Given the description of an element on the screen output the (x, y) to click on. 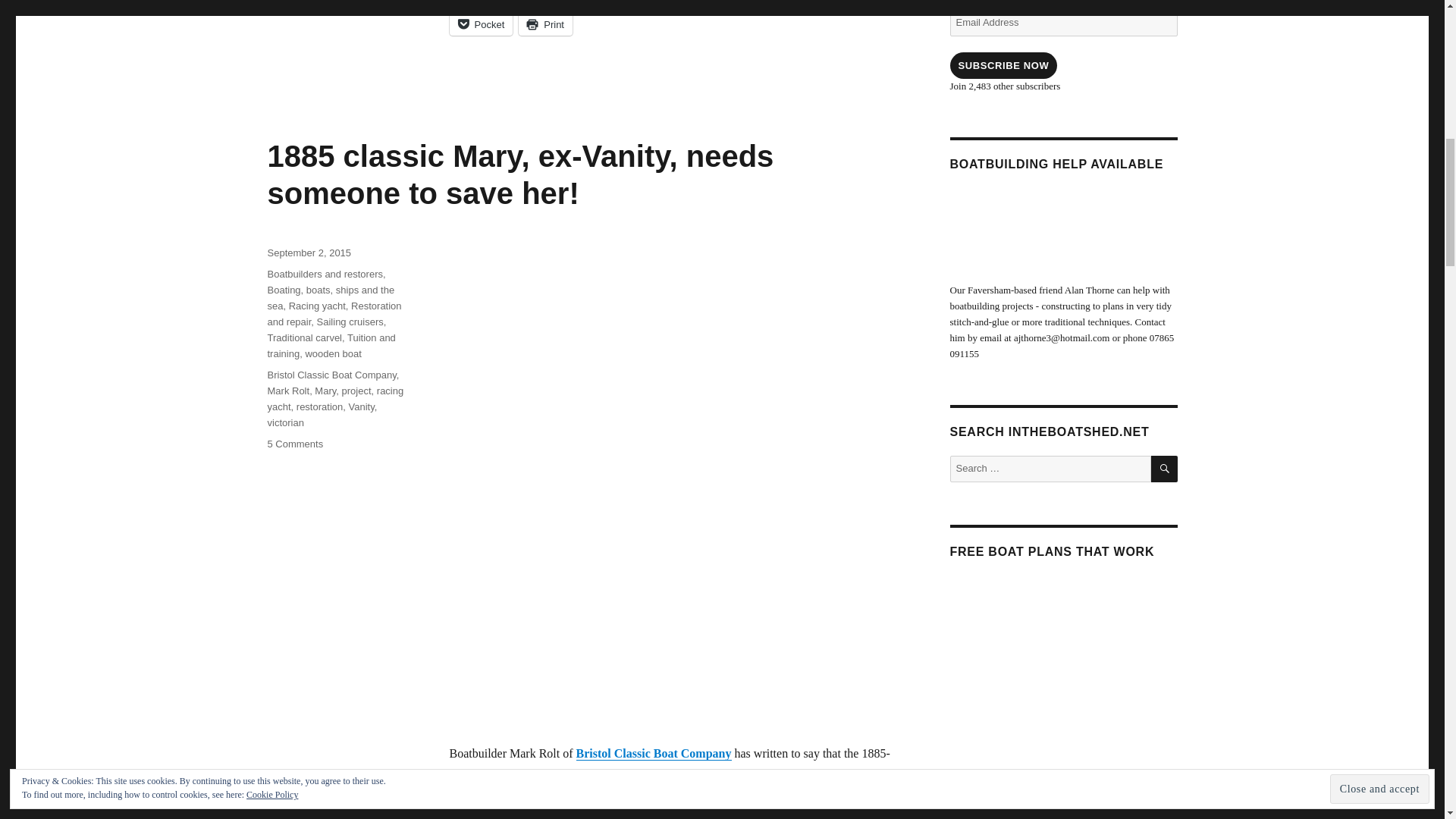
Click to share on Twitter (641, 2)
Reddit (843, 2)
Facebook (486, 2)
Click to share on Pinterest (568, 2)
Click to share on Facebook (486, 2)
Bristol Classic Boat Company (654, 753)
Click to share on Reddit (843, 2)
Click to share on Tumblr (710, 2)
saloon (800, 463)
Print (545, 24)
Pocket (480, 24)
Click to share on Pocket (480, 24)
Pinterest (568, 2)
mary lloyds reg (800, 314)
Twitter (641, 2)
